Given the description of an element on the screen output the (x, y) to click on. 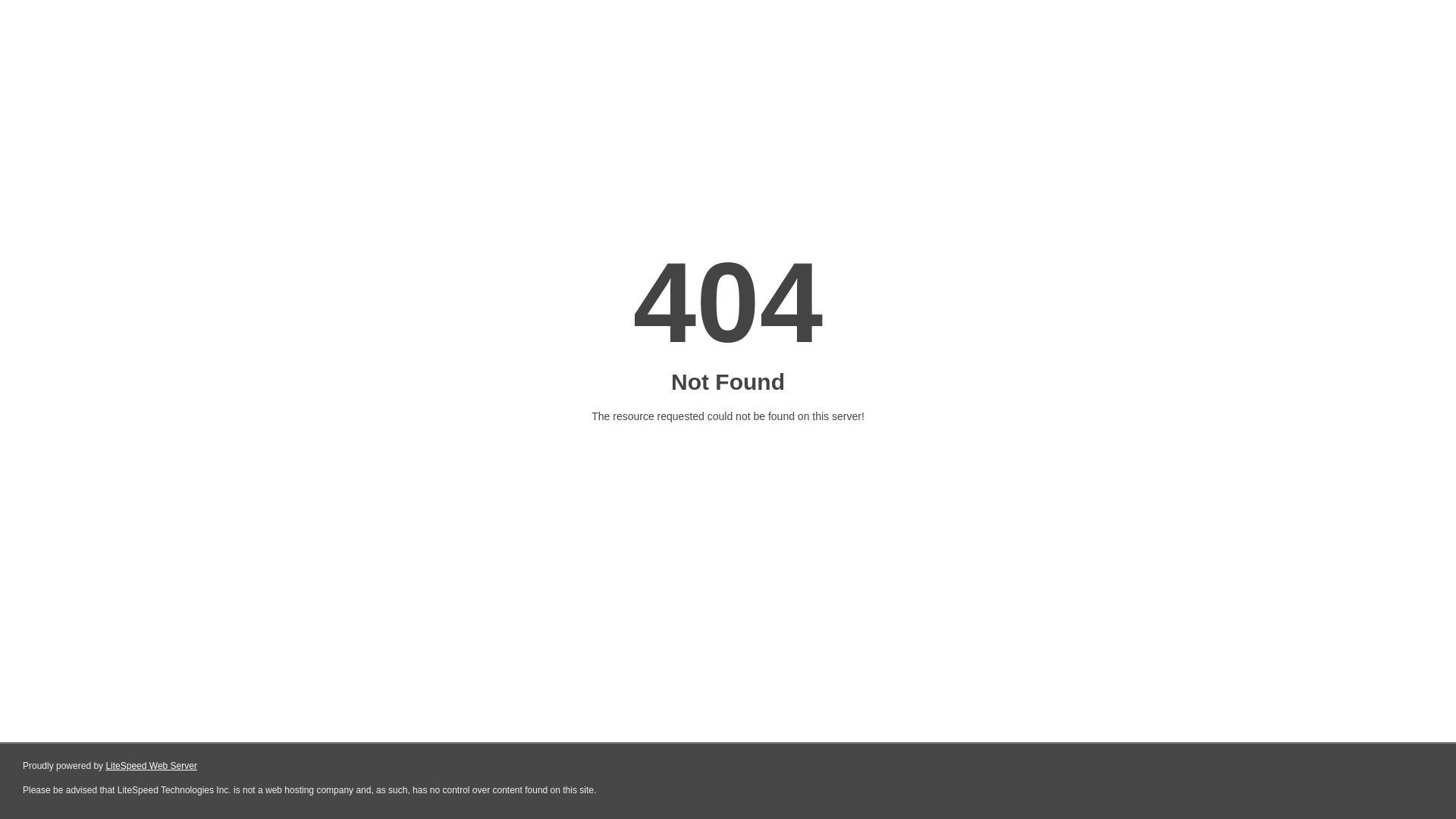
LiteSpeed Web Server Element type: text (151, 765)
